Given the description of an element on the screen output the (x, y) to click on. 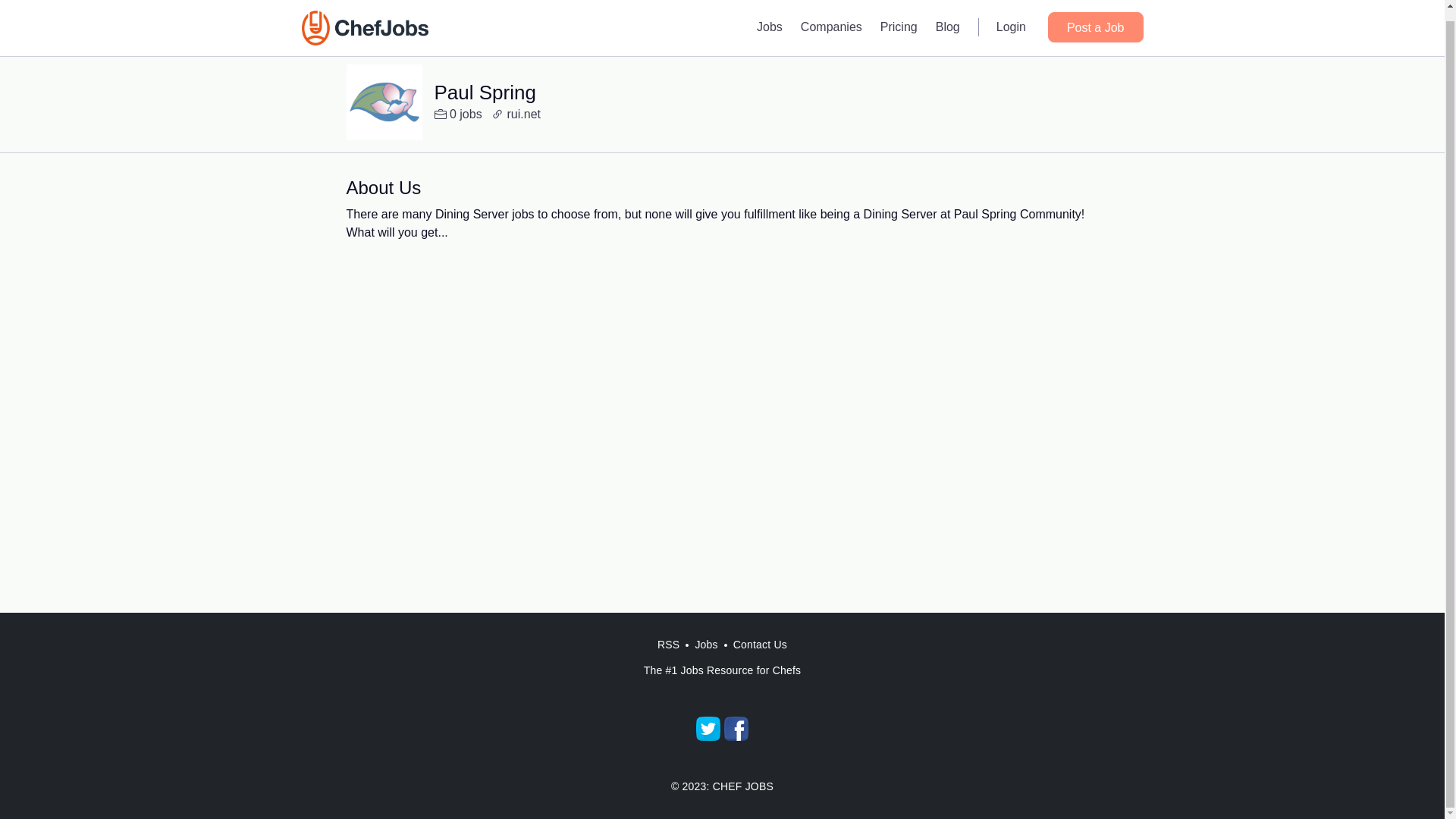
0 jobs (457, 114)
RSS (668, 644)
Post a Job (1095, 16)
Contact Us (759, 644)
rui.net (516, 114)
Pricing (898, 18)
Login (1011, 18)
Blog (947, 18)
Jobs (706, 644)
Jobs (770, 18)
Companies (831, 18)
